Given the description of an element on the screen output the (x, y) to click on. 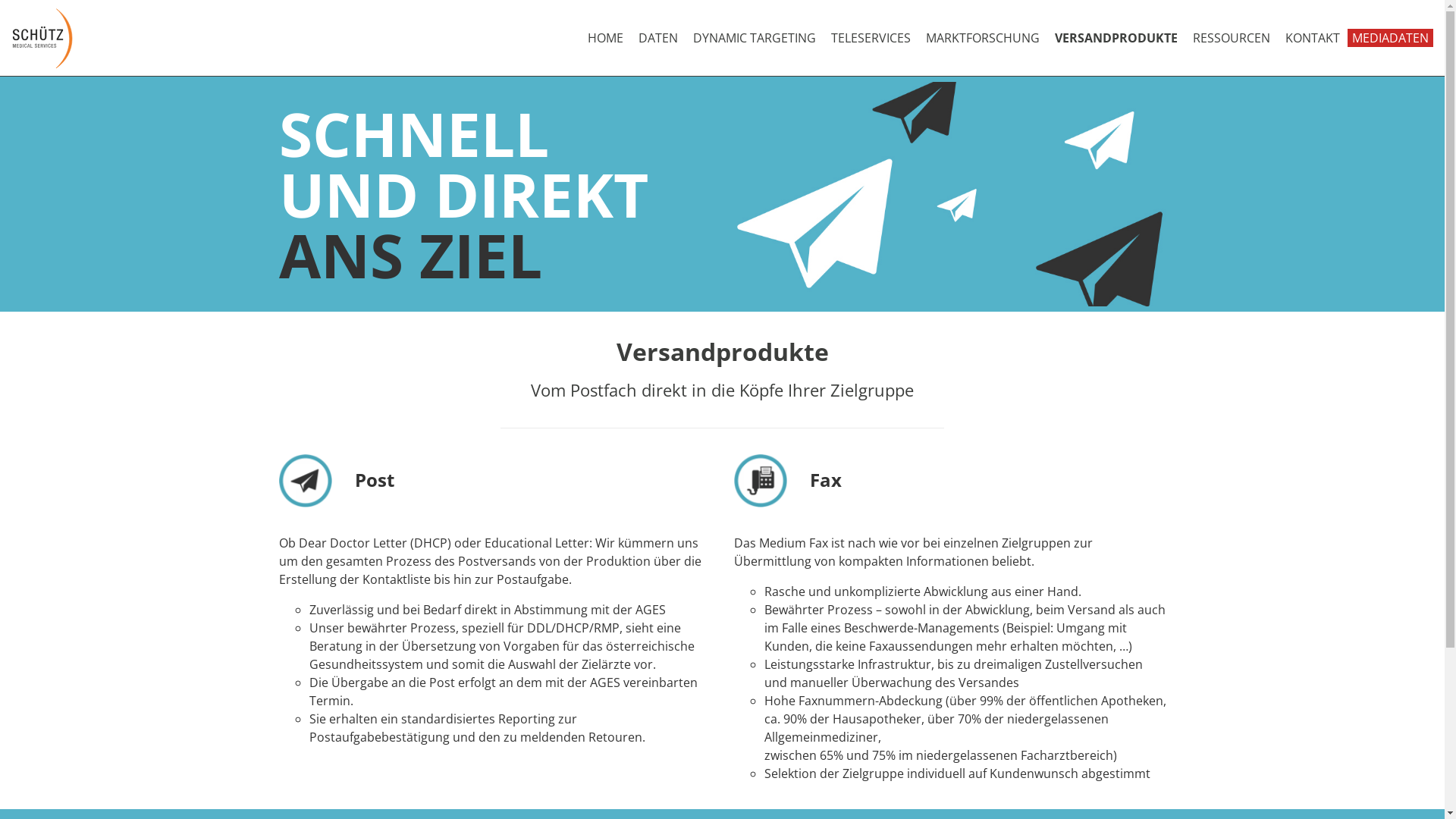
MARKTFORSCHUNG Element type: text (982, 37)
DYNAMIC TARGETING Element type: text (754, 37)
MEDIADATEN Element type: text (1390, 37)
VERSANDPRODUKTE Element type: text (1115, 37)
KONTAKT Element type: text (1312, 37)
TELESERVICES Element type: text (870, 37)
DATEN Element type: text (657, 37)
RESSOURCEN Element type: text (1231, 37)
HOME Element type: text (605, 37)
Home Element type: hover (42, 37)
